Given the description of an element on the screen output the (x, y) to click on. 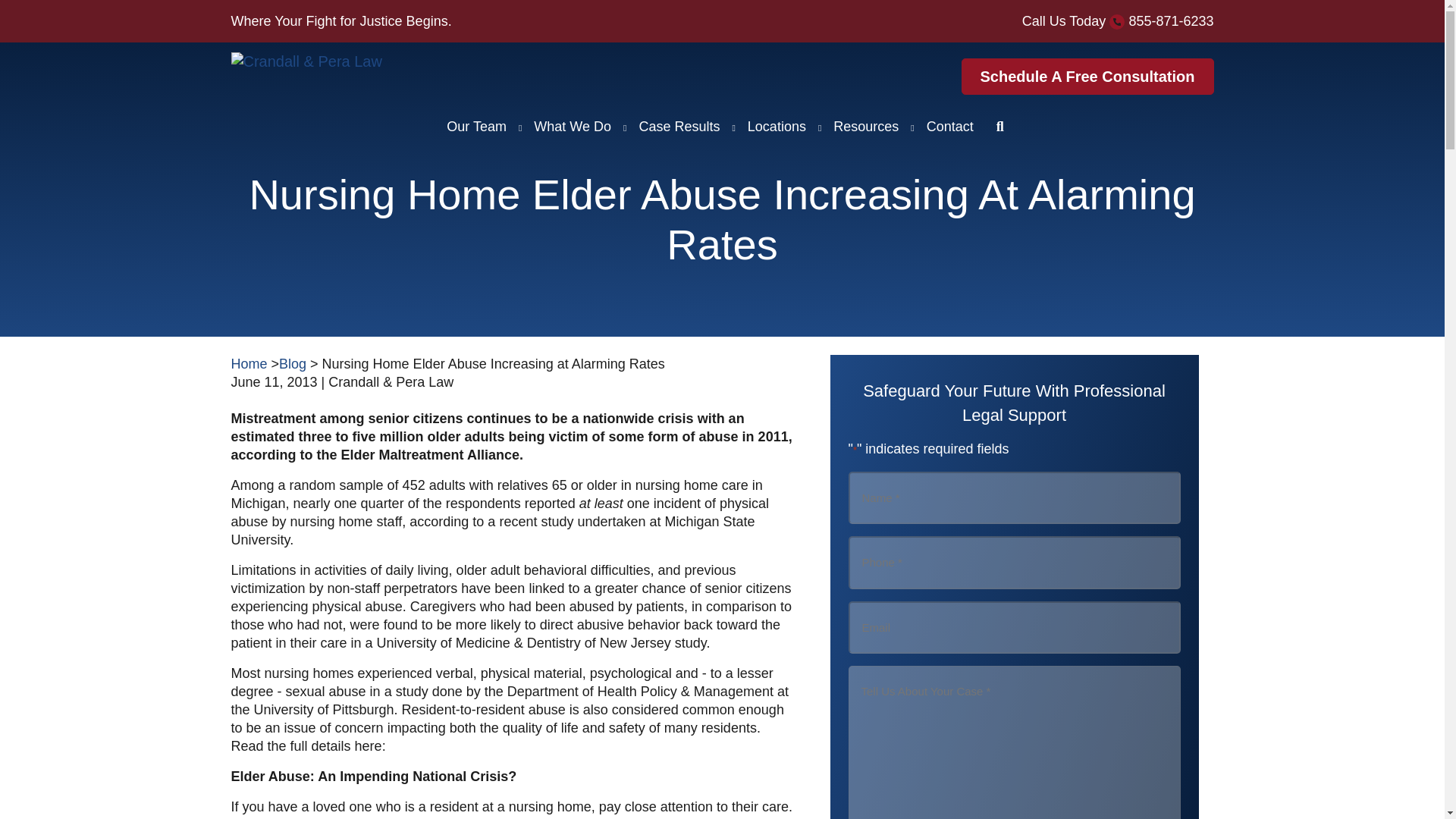
Our Team (476, 126)
What We Do (572, 126)
Locations (776, 126)
Case Results (678, 126)
855-871-6233 (1170, 20)
Schedule A Free Consultation (1087, 76)
